Given the description of an element on the screen output the (x, y) to click on. 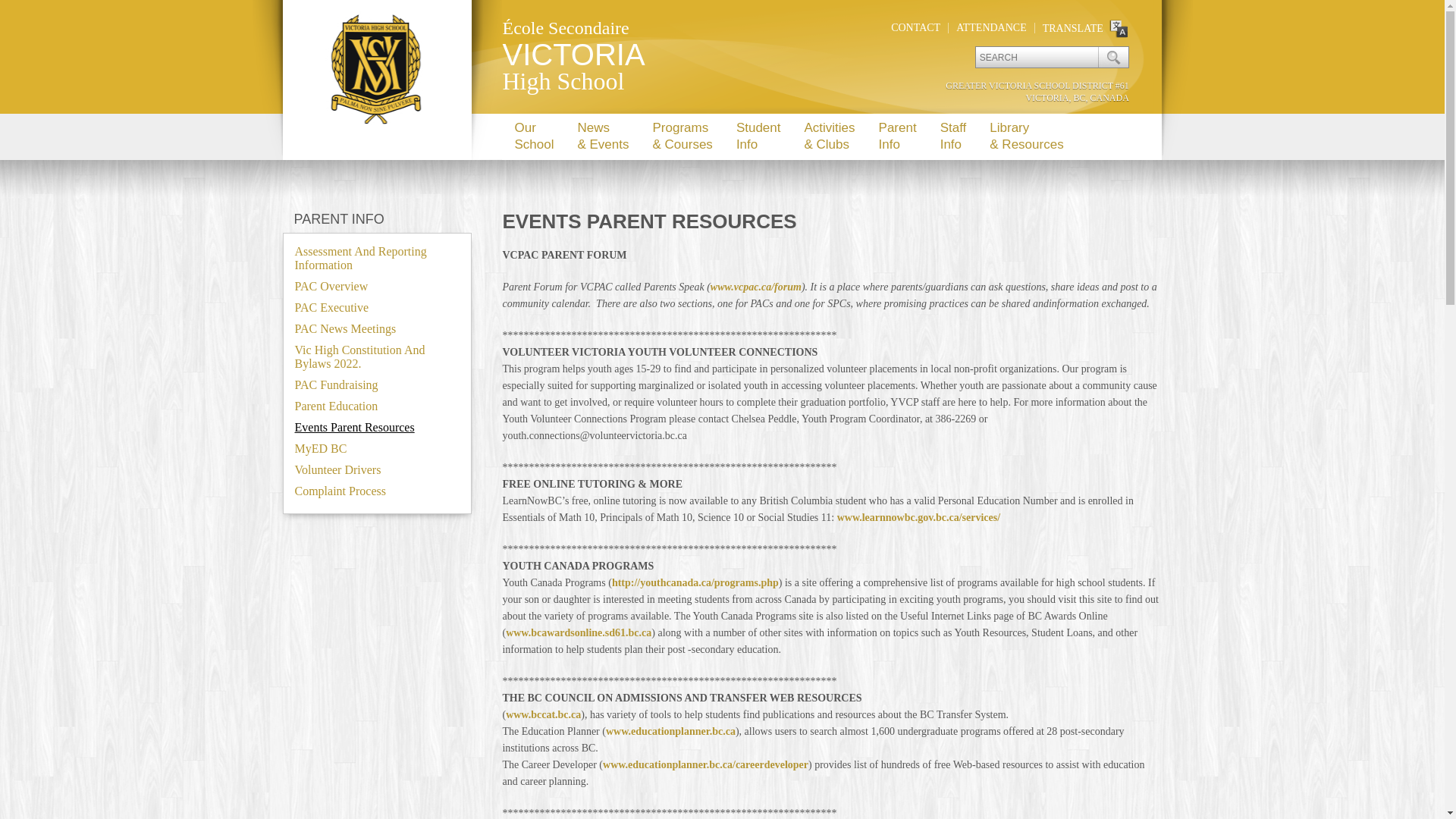
www.educationplanner.bc.ca/careerdeveloper Element type: text (705, 764)
Vic High Constitution And Bylaws 2022. Element type: text (359, 356)
PAC News Meetings Element type: text (344, 328)
www.learnnowbc.gov.bc.ca/services/ Element type: text (918, 517)
Staff
Info Element type: text (953, 136)
Parent
Info Element type: text (897, 136)
Assessment And Reporting Information Element type: text (360, 257)
CONTACT Element type: text (915, 27)
Programs
& Courses Element type: text (681, 136)
ATTENDANCE Element type: text (991, 27)
Library
& Resources Element type: text (1025, 136)
News
& Events Element type: text (602, 136)
PAC Executive Element type: text (331, 307)
www.bcawardsonline.sd61.bc.ca Element type: text (578, 632)
Volunteer Drivers Element type: text (337, 469)
www.vcpac.ca/forum Element type: text (755, 286)
Student
Info Element type: text (758, 136)
Events Parent Resources Element type: text (354, 426)
MyED BC Element type: text (320, 448)
Complaint Process Element type: text (339, 490)
www.bccat.bc.ca Element type: text (542, 714)
Activities
& Clubs Element type: text (828, 136)
Parent Education Element type: text (335, 405)
PARENT INFO Element type: text (339, 218)
  Element type: text (1112, 57)
PAC Fundraising Element type: text (335, 384)
Our
School Element type: text (533, 136)
www.educationplanner.bc.ca Element type: text (670, 731)
PAC Overview Element type: text (330, 285)
http://youthcanada.ca/programs.php Element type: text (694, 582)
